Given the description of an element on the screen output the (x, y) to click on. 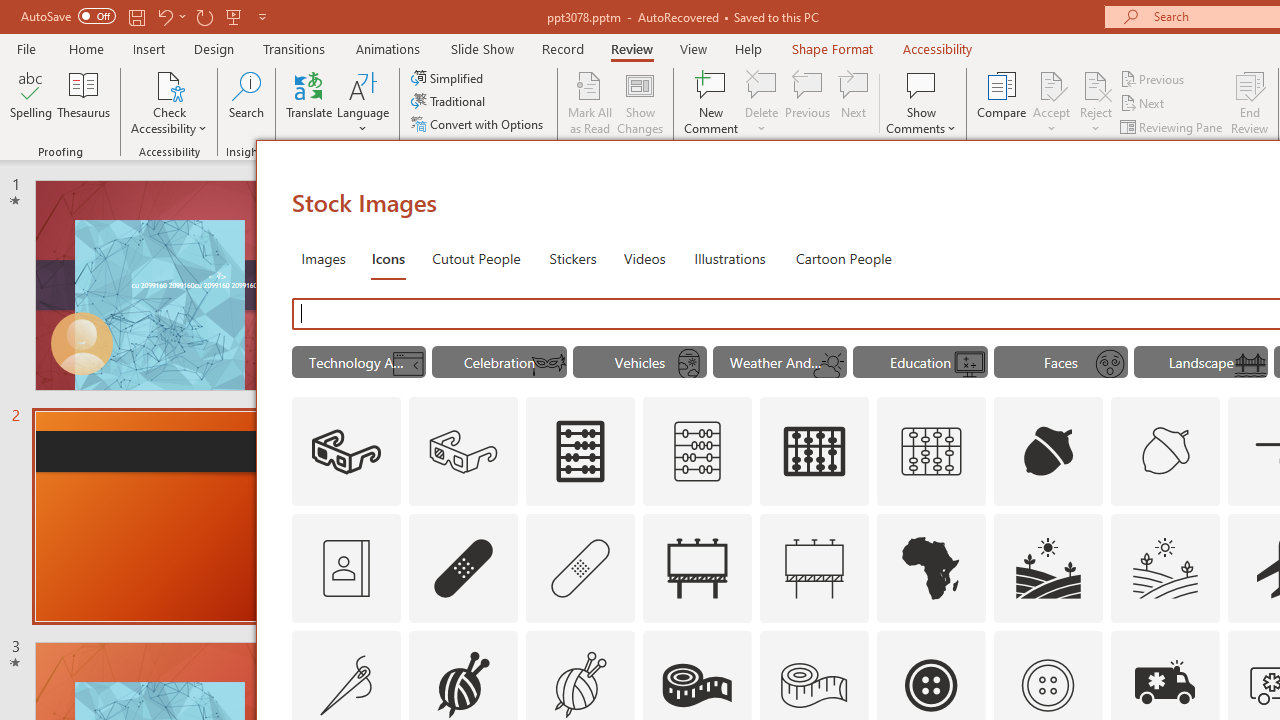
Mark All as Read (589, 102)
AutomationID: Icons_Abacus1_M (931, 452)
AutomationID: Icons_Abacus_M (697, 452)
AutomationID: Icons_Advertising_M (815, 568)
AutomationID: Icons_PartyMask_M (549, 364)
AutomationID: Icons_3dGlasses_M (463, 452)
Reject (1096, 102)
